Given the description of an element on the screen output the (x, y) to click on. 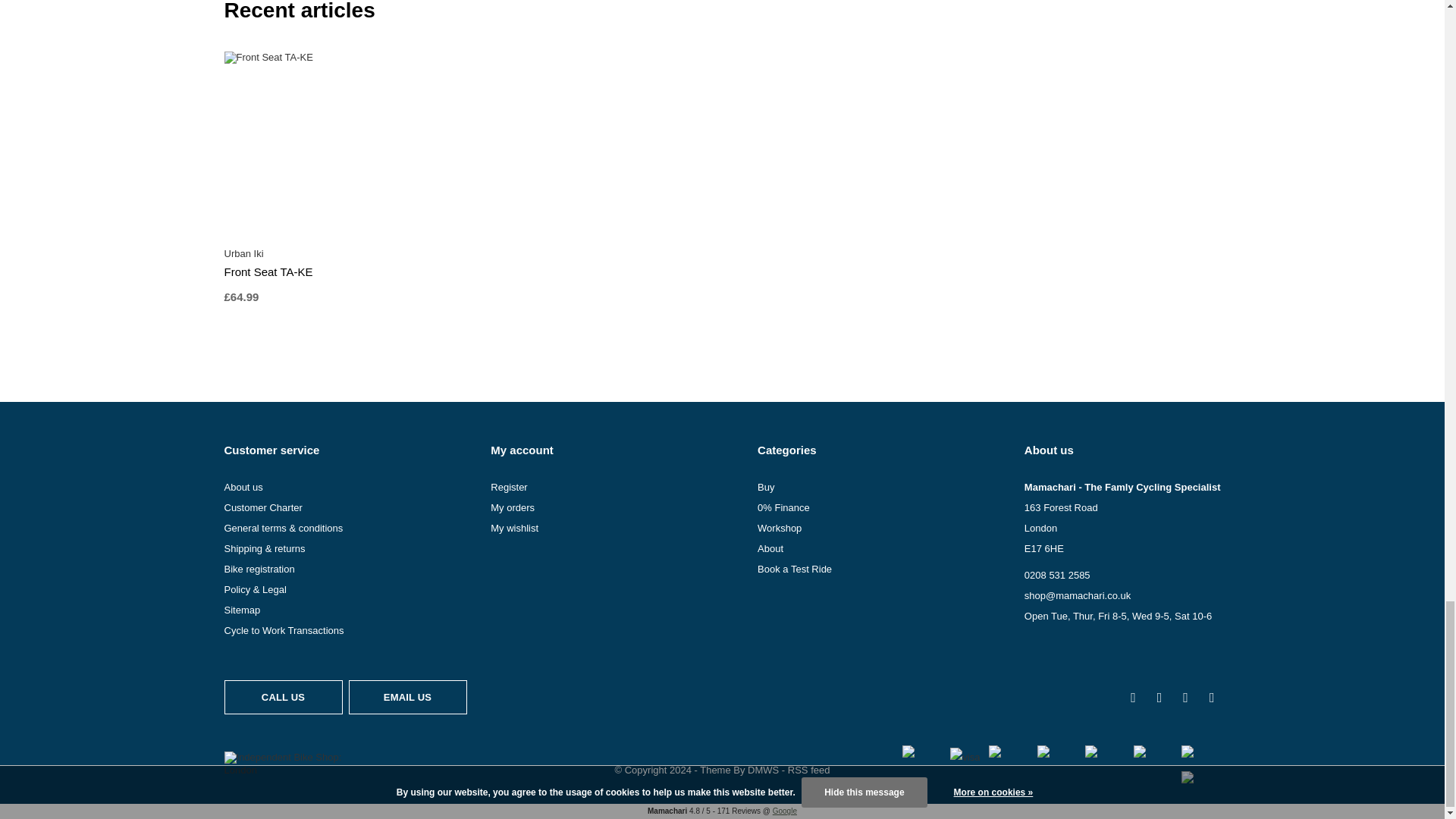
My orders (512, 507)
Register (508, 486)
My wishlist (514, 527)
